Given the description of an element on the screen output the (x, y) to click on. 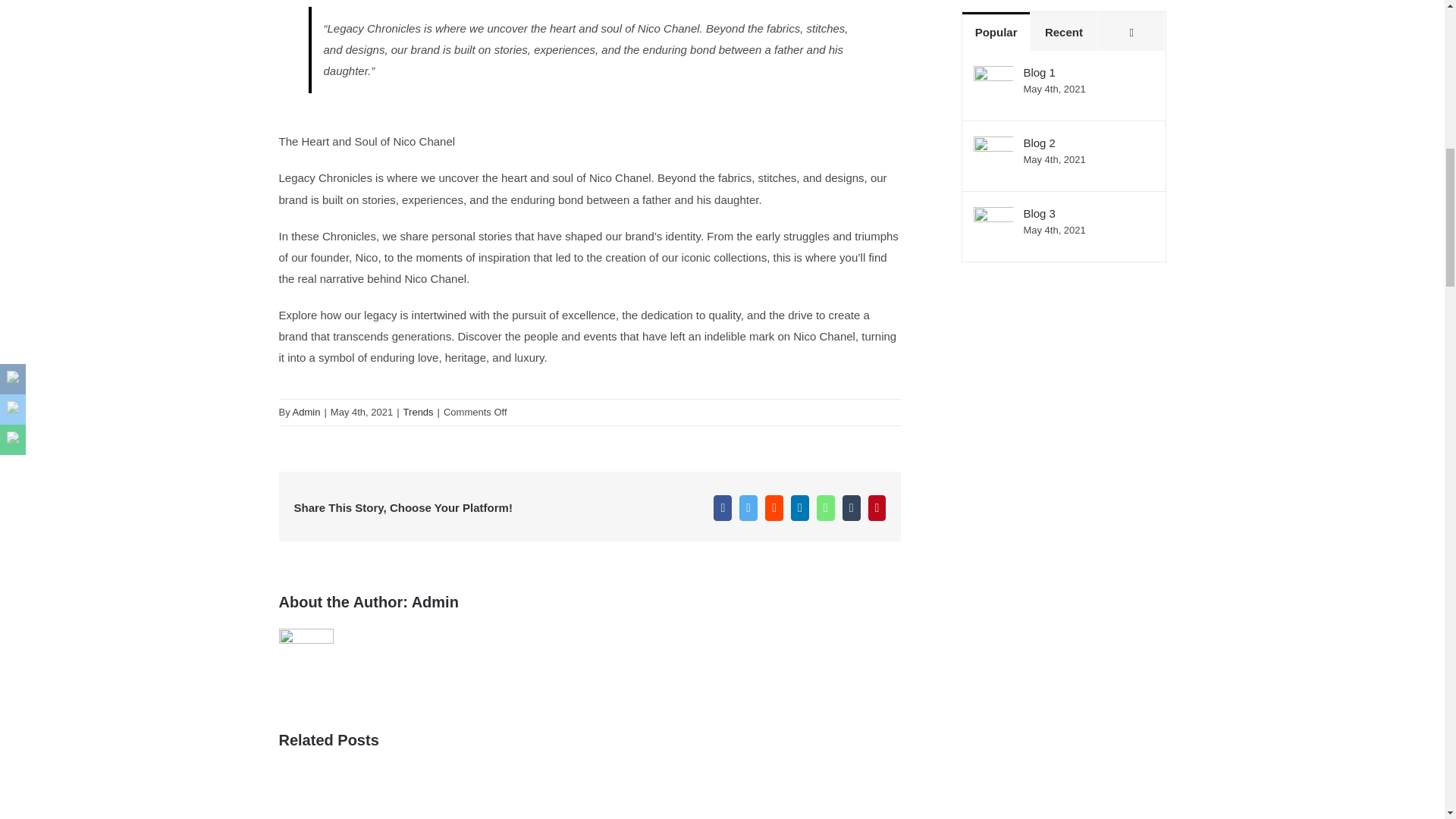
Admin (435, 601)
Posts by Admin (306, 411)
Posts by Admin (435, 601)
Trends (418, 411)
Admin (306, 411)
